Given the description of an element on the screen output the (x, y) to click on. 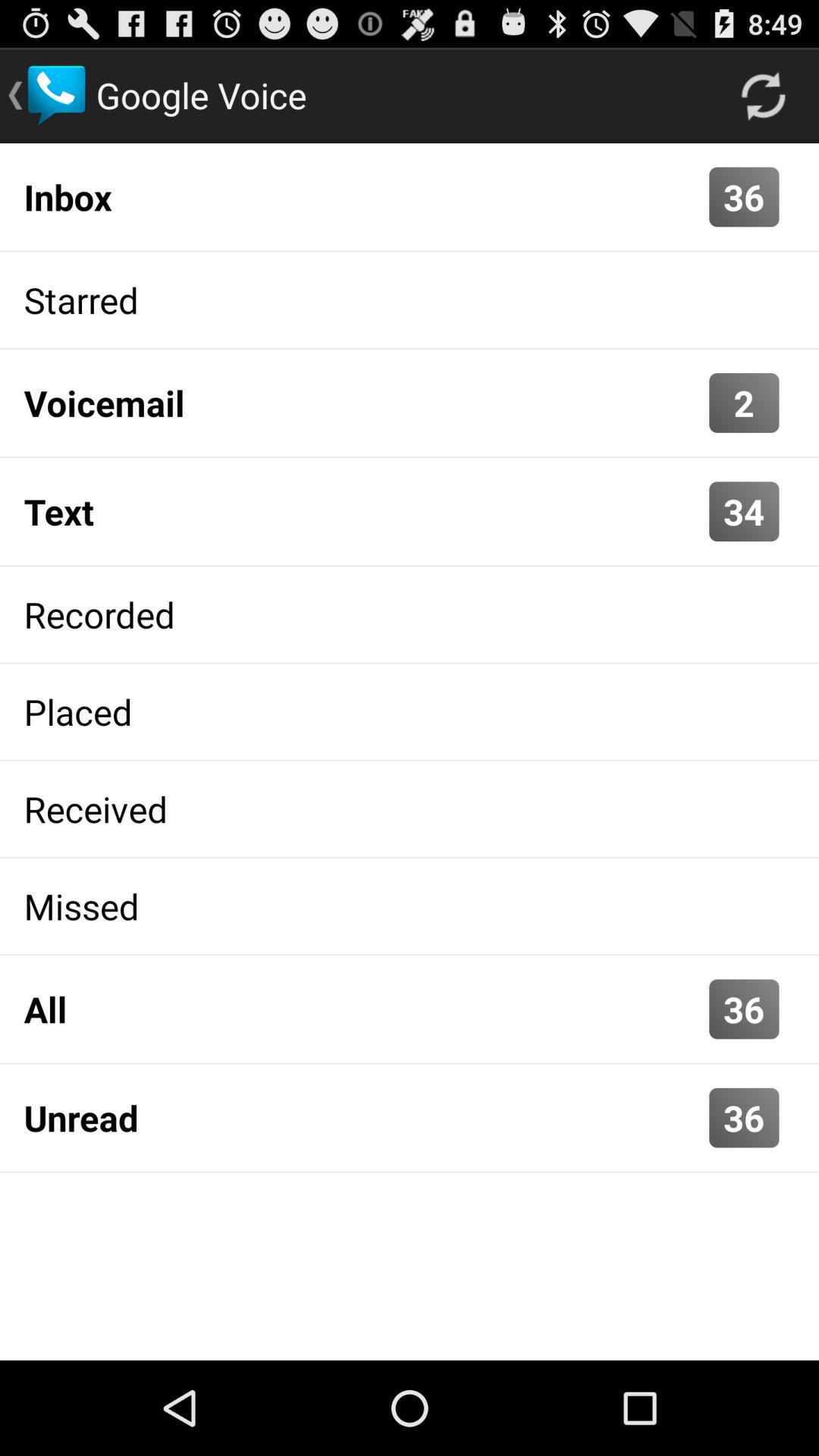
open the icon to the left of 34 item (362, 511)
